Given the description of an element on the screen output the (x, y) to click on. 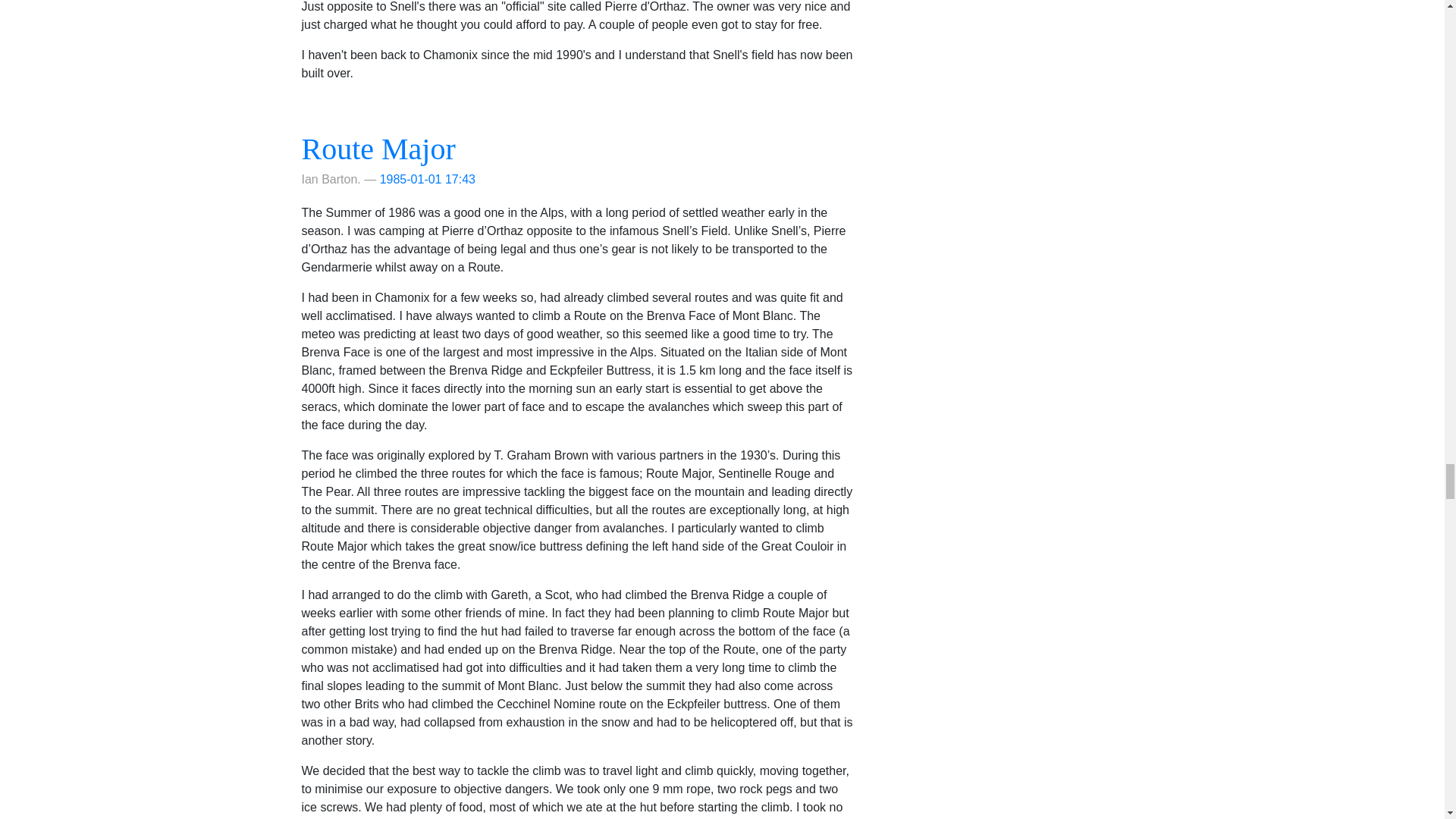
1985-01-01 17:43 (428, 178)
Route Major (378, 148)
1985-01-01 17:43 (428, 178)
